Given the description of an element on the screen output the (x, y) to click on. 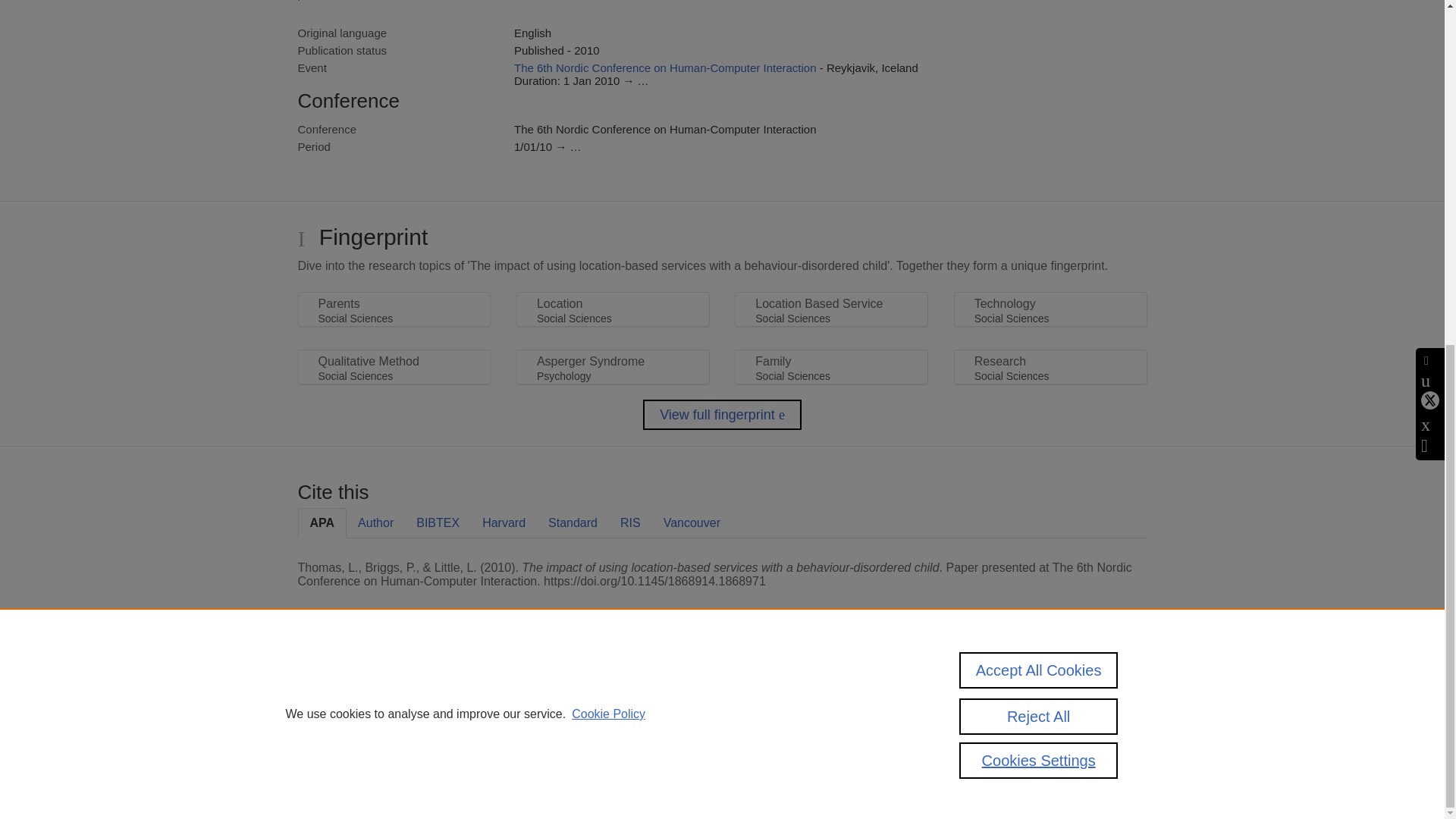
Elsevier B.V. (506, 707)
View full fingerprint (722, 414)
use of cookies (796, 739)
Pure (362, 686)
The 6th Nordic Conference on Human-Computer Interaction (664, 67)
Scopus (394, 686)
